Given the description of an element on the screen output the (x, y) to click on. 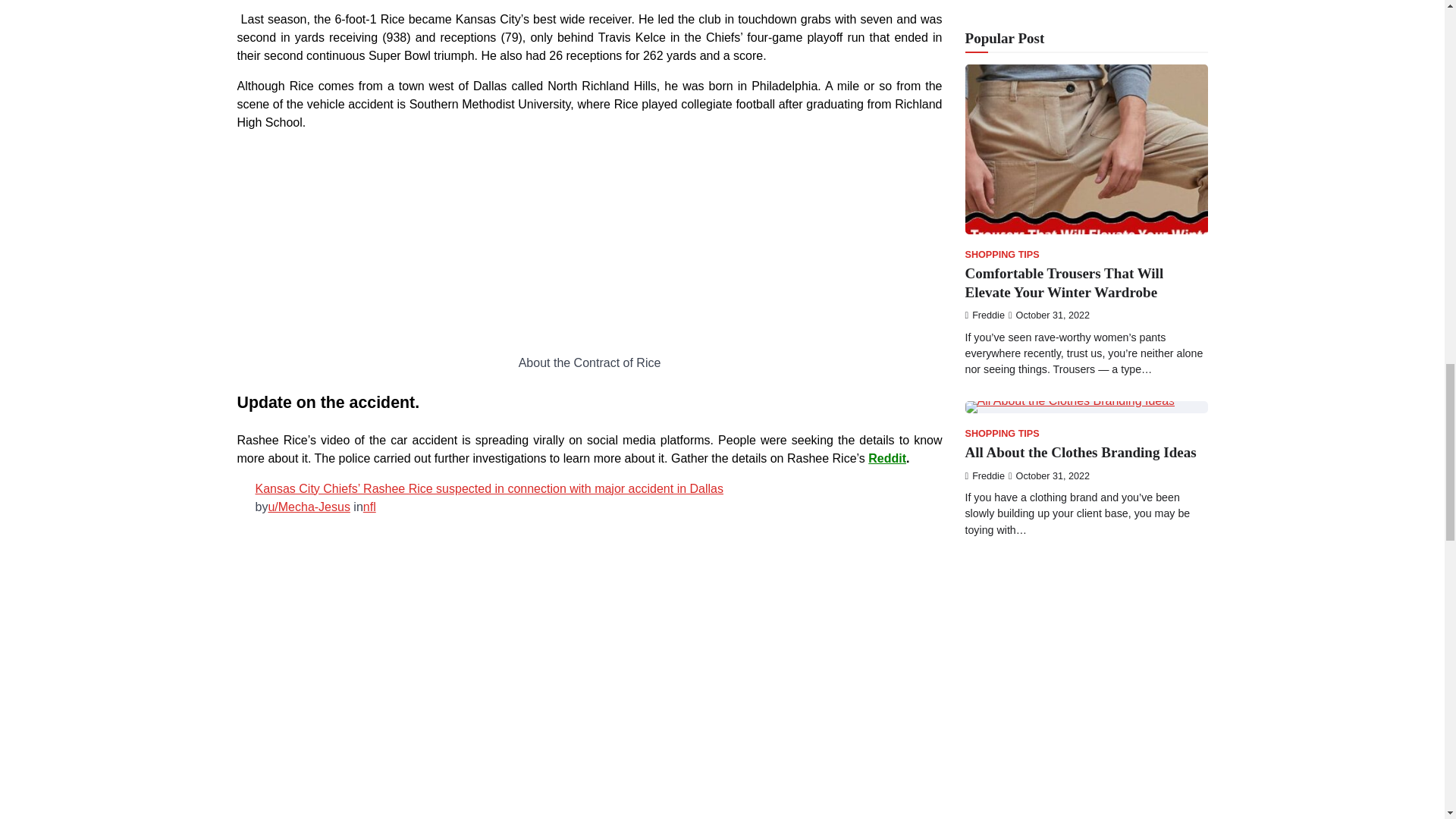
Reddit (886, 458)
nfl (368, 506)
